Given the description of an element on the screen output the (x, y) to click on. 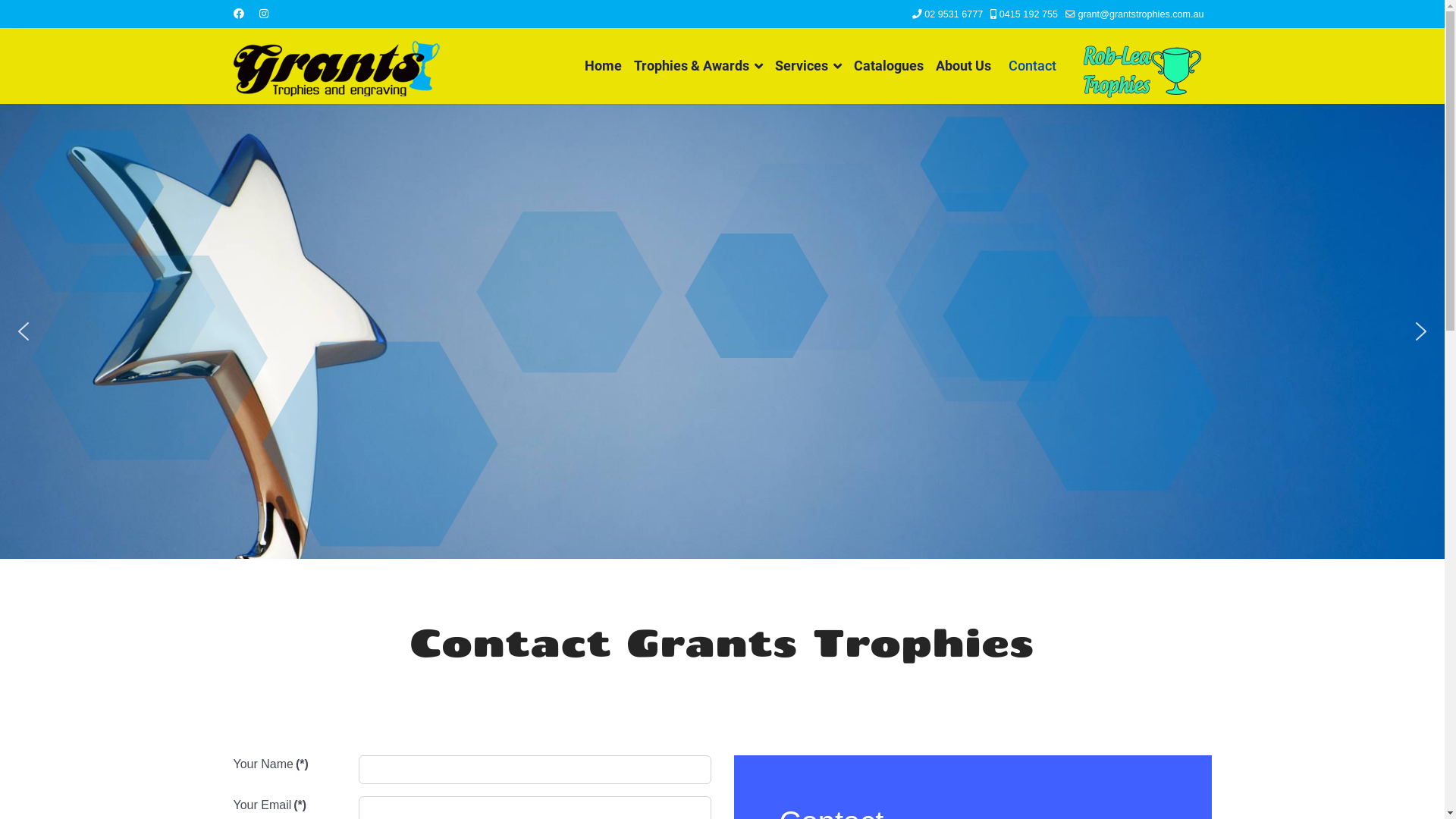
banner-trophies-background image Element type: hover (722, 330)
Services Element type: text (807, 65)
rob-lea-trophies-logo image Element type: hover (1141, 70)
About Us Element type: text (963, 65)
Catalogues Element type: text (888, 65)
Home Element type: text (602, 65)
logo-grants-trophies-80px-logo image Element type: hover (336, 65)
0415 192 755 Element type: text (1028, 14)
grant@grantstrophies.com.au Element type: text (1140, 14)
Trophies & Awards Element type: text (697, 65)
Contact Element type: text (1025, 65)
02 9531 6777 Element type: text (953, 14)
